Given the description of an element on the screen output the (x, y) to click on. 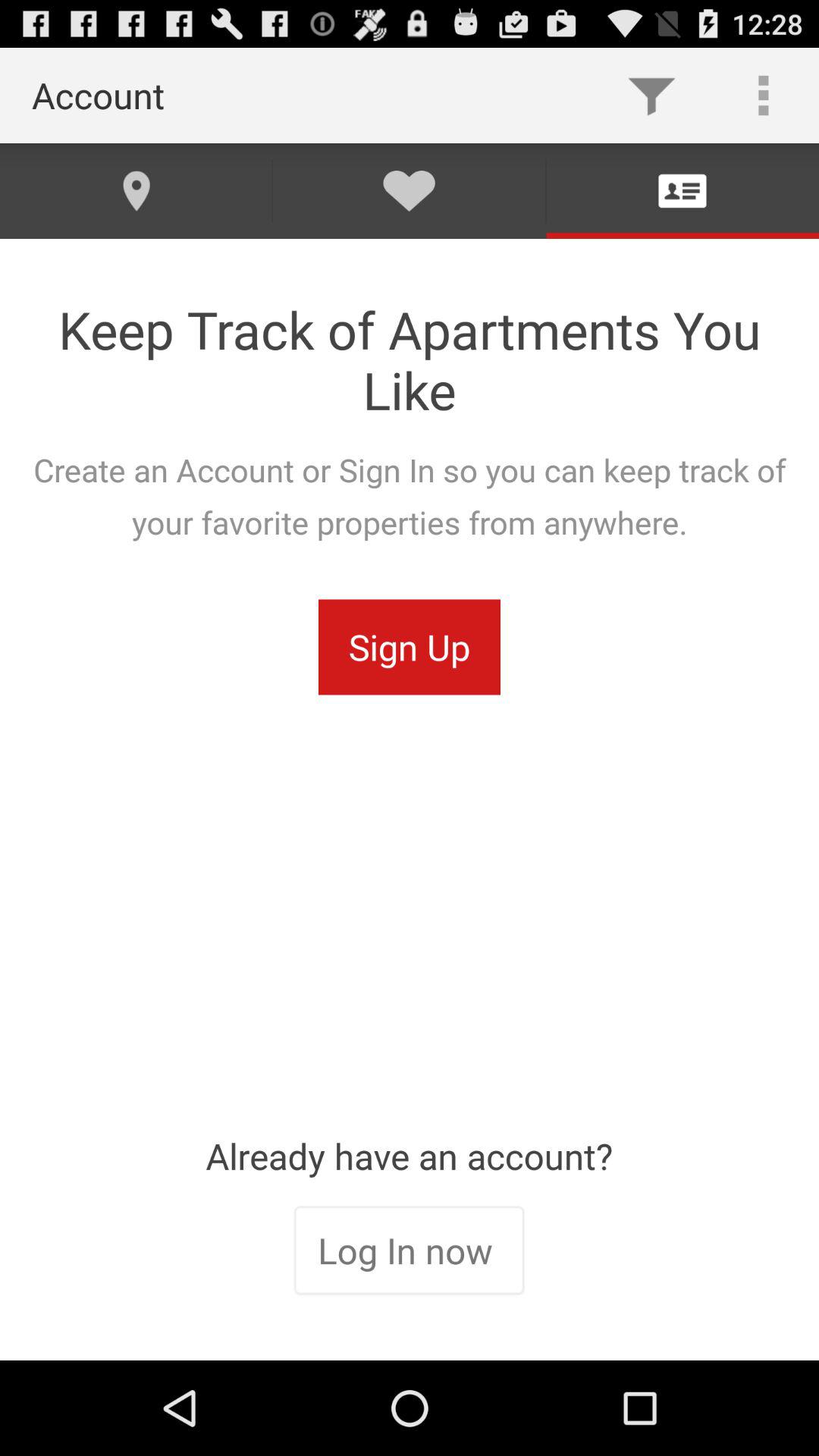
turn off the item above the already have an (409, 647)
